Given the description of an element on the screen output the (x, y) to click on. 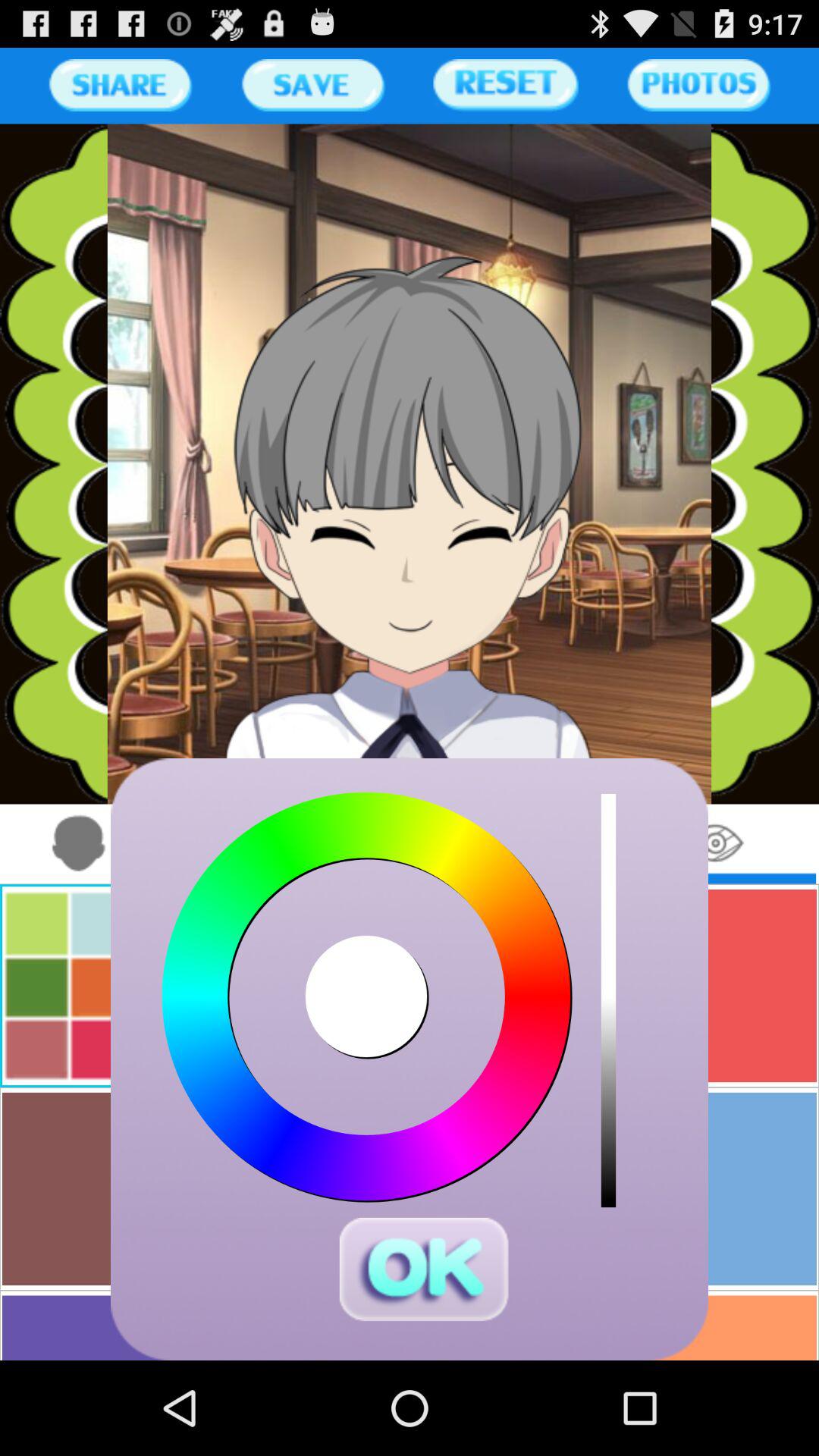
press ok (423, 1269)
